Given the description of an element on the screen output the (x, y) to click on. 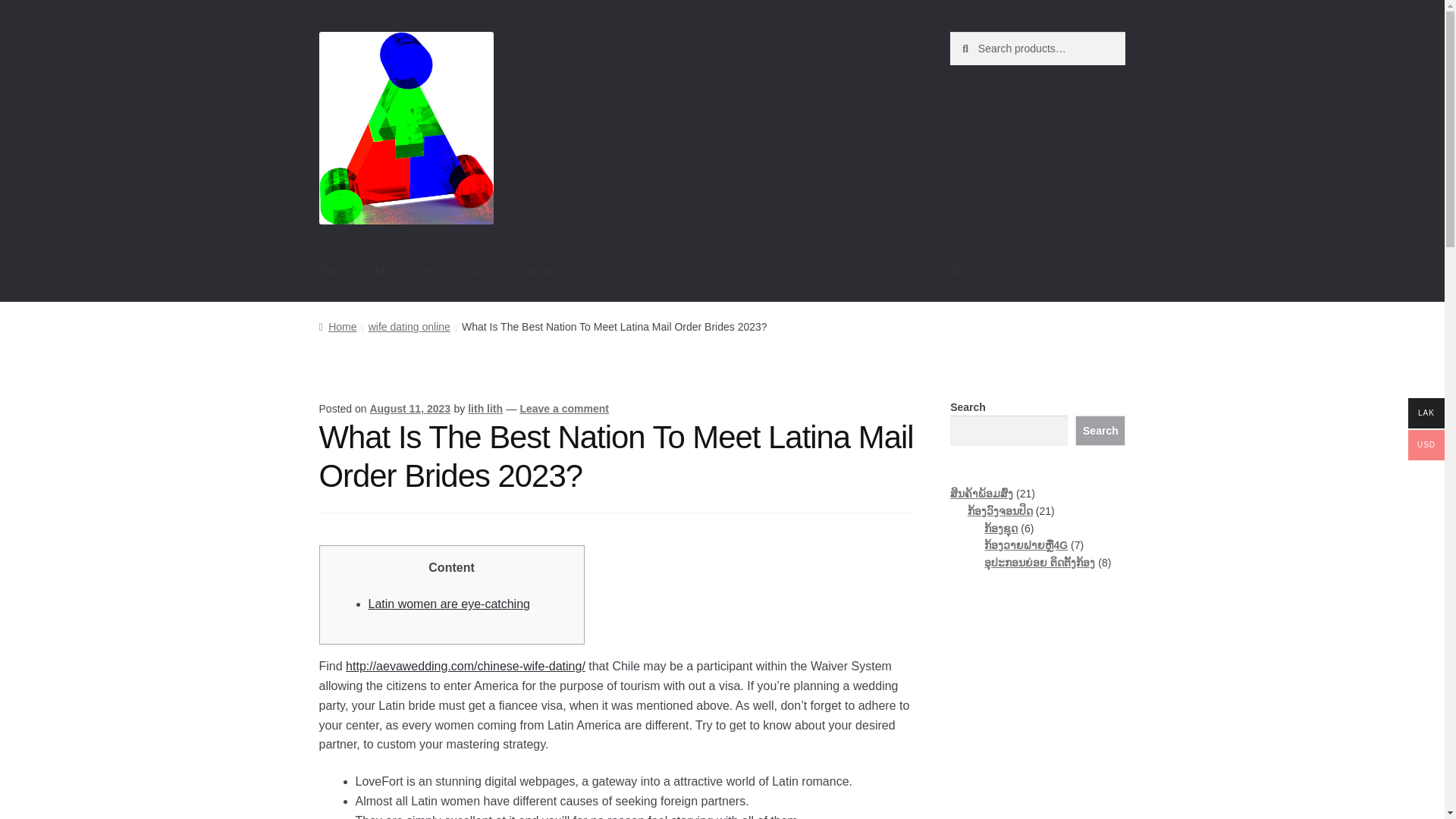
My account (405, 271)
Leave a comment (563, 408)
Checkout (540, 271)
Home (337, 326)
lith lith (484, 408)
August 11, 2023 (409, 408)
Latin women are eye-catching (448, 603)
wife dating online (408, 326)
Search (1100, 430)
View your shopping cart (1037, 271)
